Given the description of an element on the screen output the (x, y) to click on. 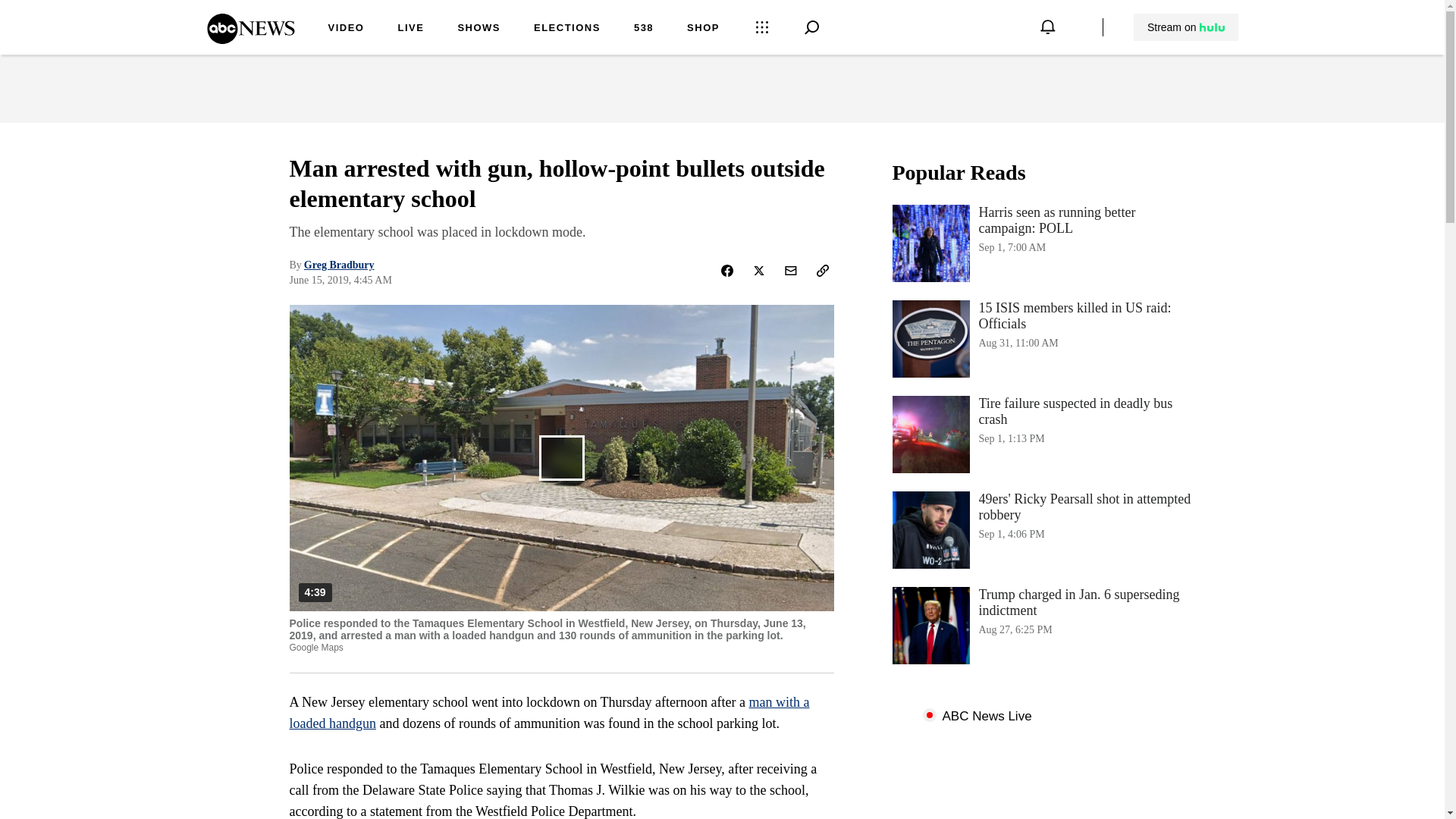
VIDEO (345, 28)
ABC News (250, 38)
SHOWS (478, 28)
LIVE (410, 28)
Stream on (1185, 27)
538 (643, 28)
Stream on (1186, 26)
Greg Bradbury (339, 265)
SHOP (1043, 242)
